Given the description of an element on the screen output the (x, y) to click on. 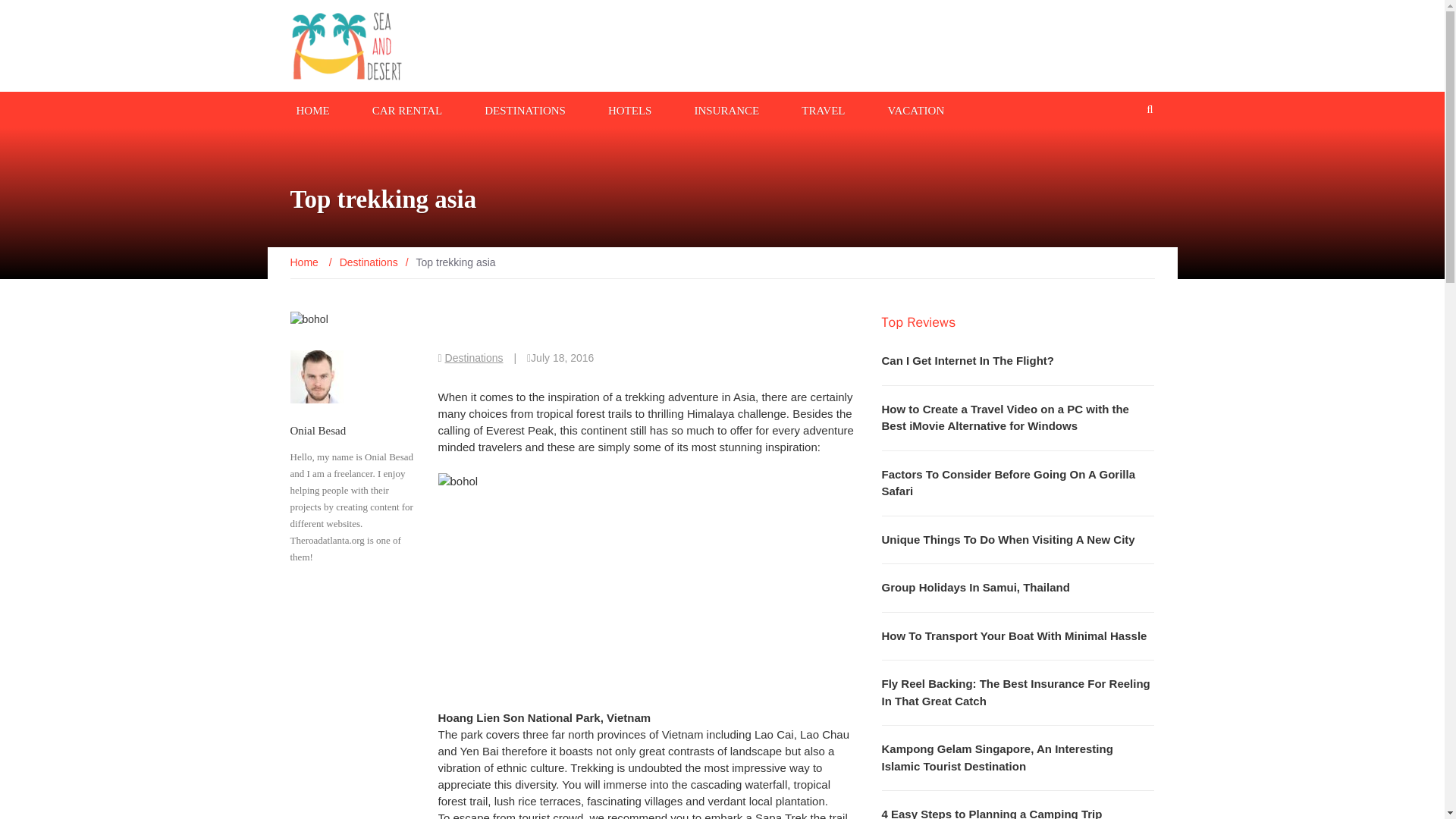
Top trekking asia (648, 582)
How To Transport Your Boat With Minimal Hassle (1013, 635)
DESTINATIONS (525, 109)
Sapa Trek (780, 815)
TRAVEL (822, 109)
Can I Get Internet In The Flight? (967, 359)
Posts by Onial Besad (317, 430)
Factors To Consider Before Going On A Gorilla Safari (1007, 482)
INSURANCE (726, 109)
